Given the description of an element on the screen output the (x, y) to click on. 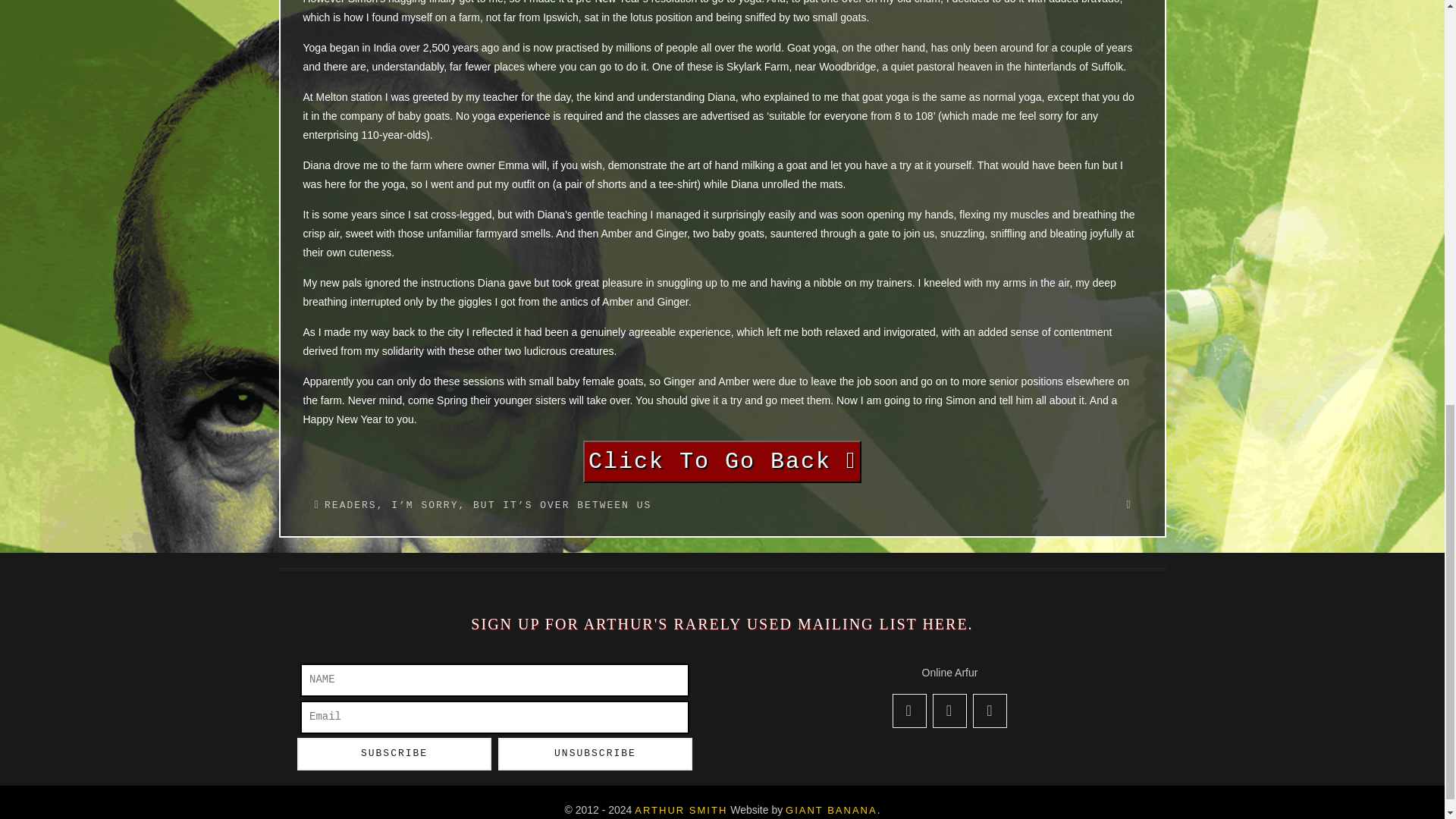
Unsubscribe (595, 753)
Subscribe (394, 753)
ARTHUR SMITH (680, 809)
Click To Go Back (722, 462)
Unsubscribe (595, 753)
Click To Go Back (722, 464)
Subscribe (394, 753)
GIANT BANANA (831, 809)
